Given the description of an element on the screen output the (x, y) to click on. 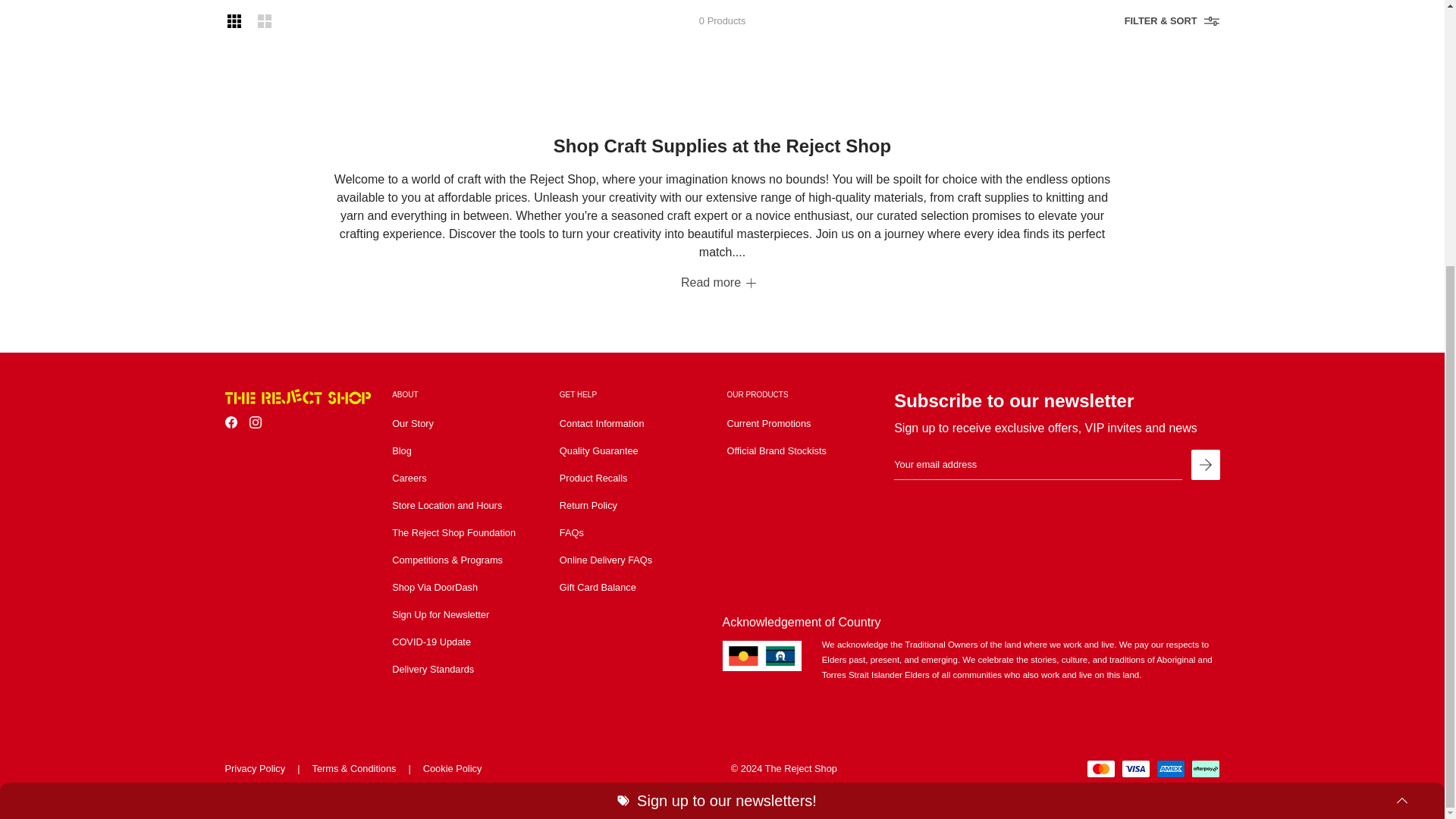
Read more (718, 282)
